Given the description of an element on the screen output the (x, y) to click on. 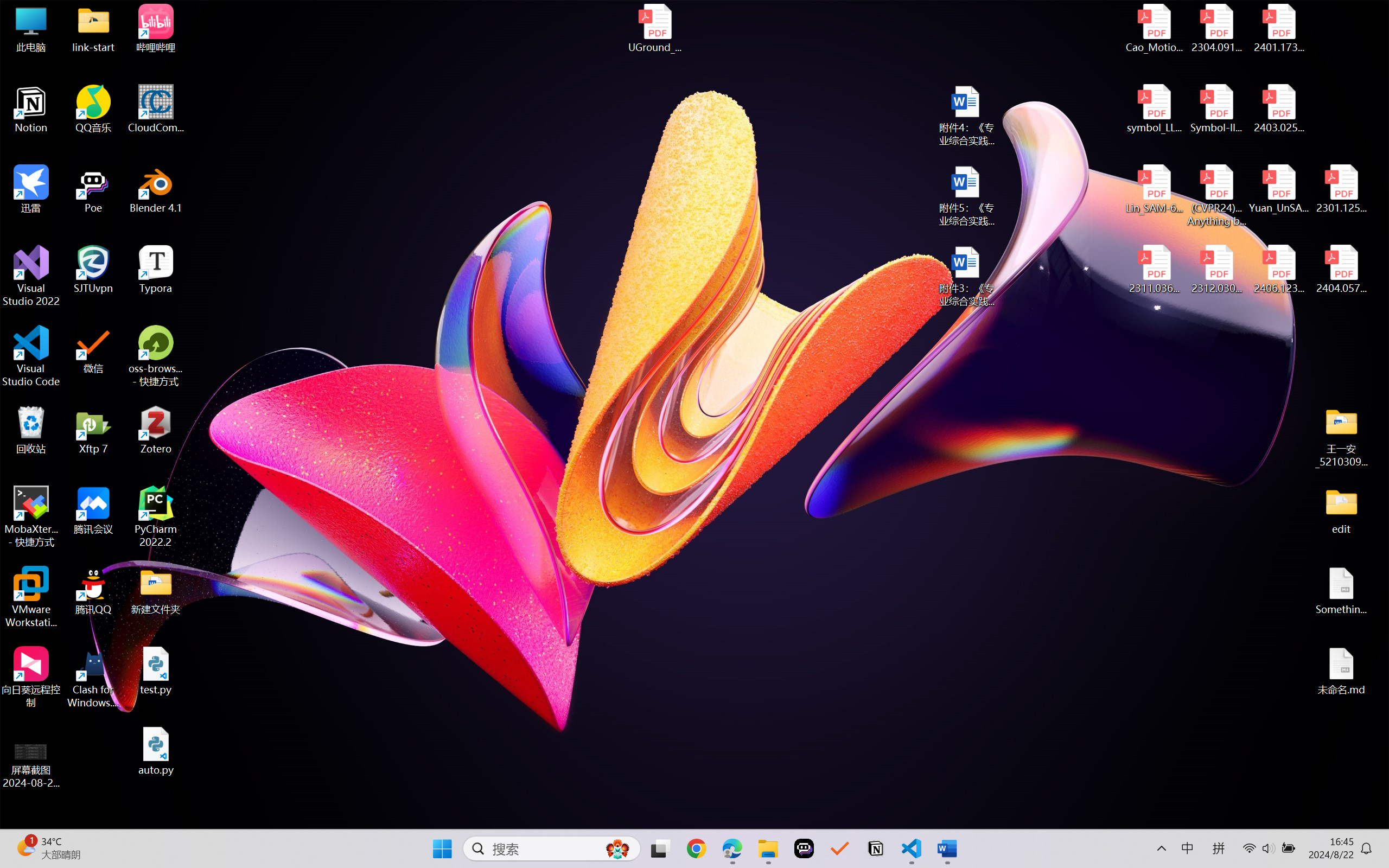
Google Chrome (696, 848)
SJTUvpn (93, 269)
edit (1340, 510)
2403.02502v1.pdf (1278, 109)
